Given the description of an element on the screen output the (x, y) to click on. 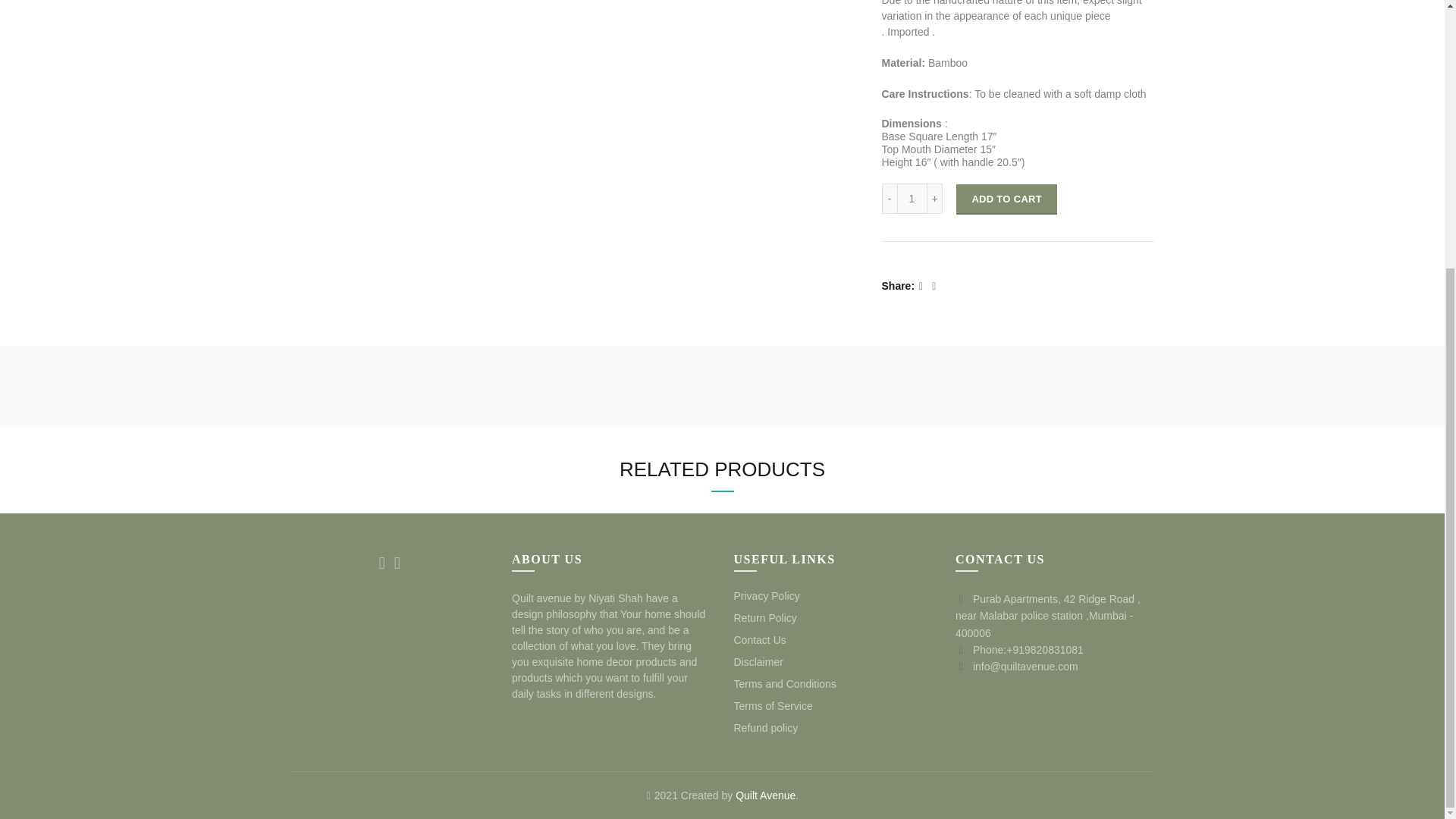
Qty (911, 198)
1 (911, 198)
